Given the description of an element on the screen output the (x, y) to click on. 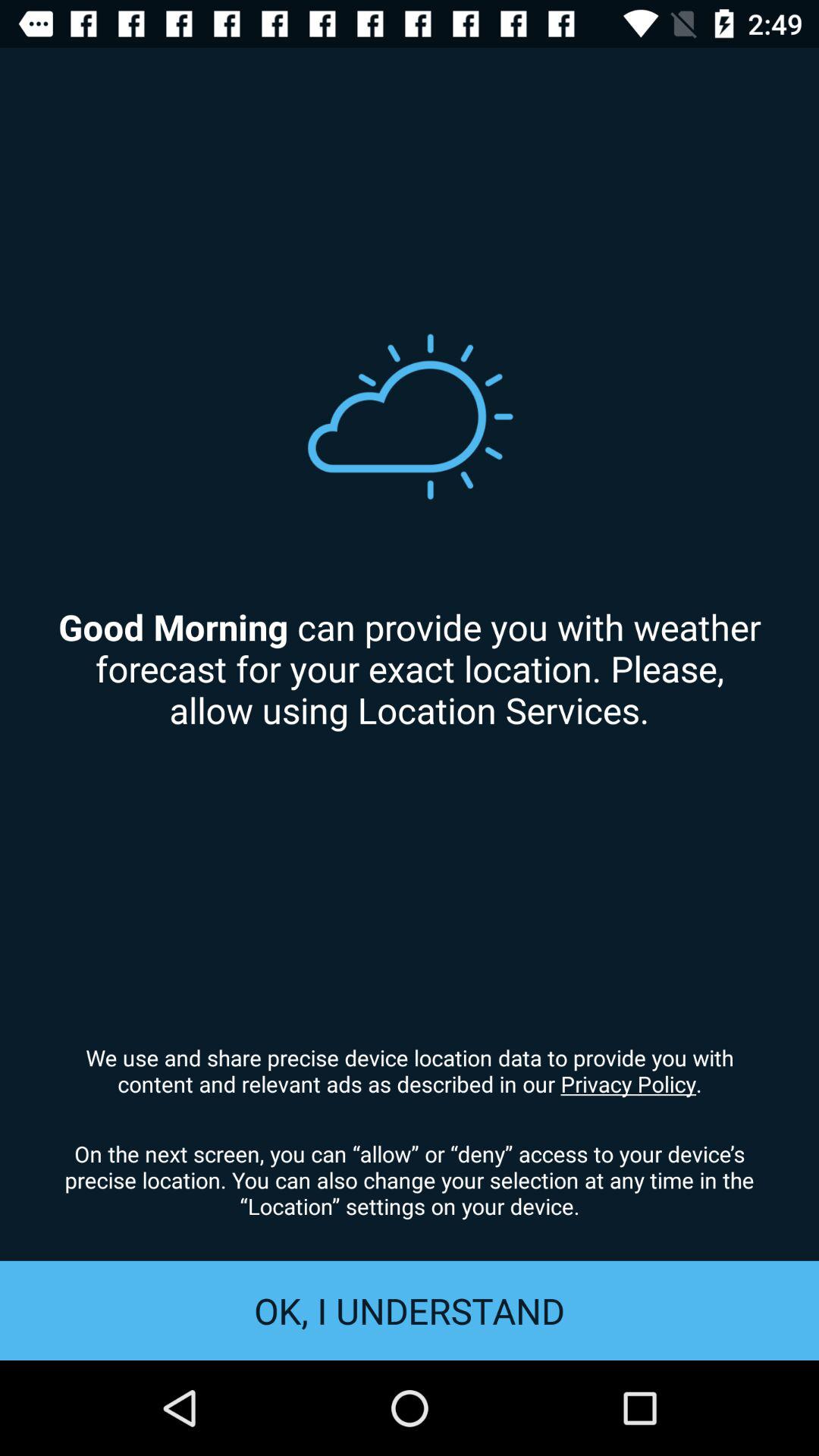
tap icon above on the next item (409, 1070)
